Given the description of an element on the screen output the (x, y) to click on. 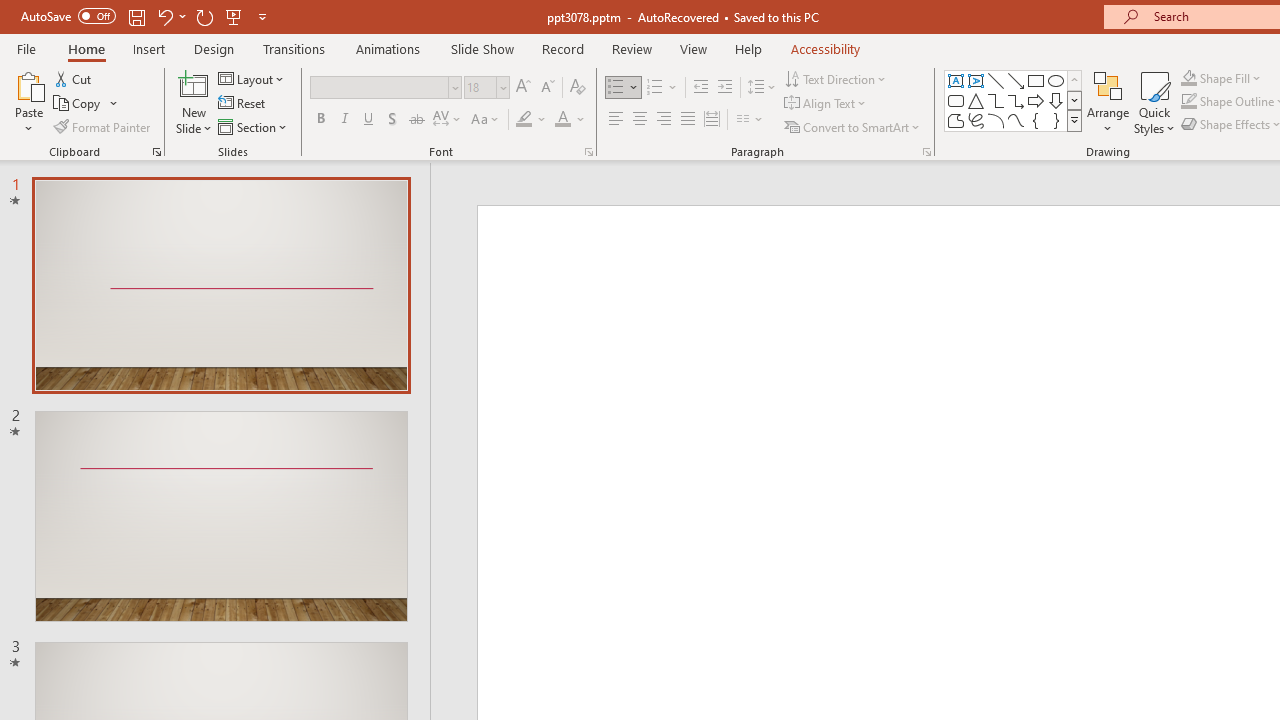
Shape Outline Green, Accent 1 (1188, 101)
